Given the description of an element on the screen output the (x, y) to click on. 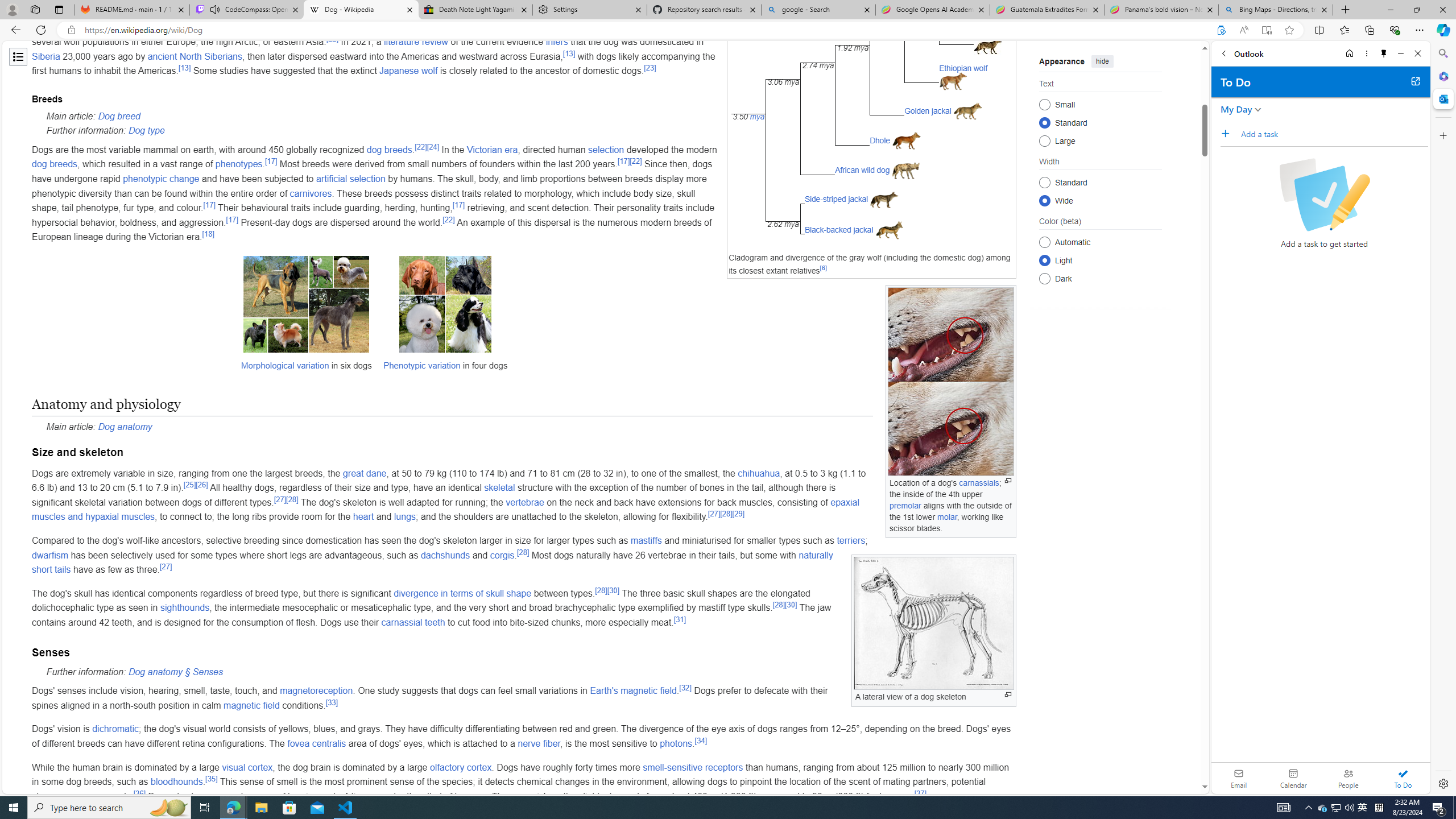
Support Wikipedia? (1220, 29)
Dhole (879, 139)
[24] (432, 146)
carnivores (310, 193)
dog breeds (55, 163)
great dane (364, 473)
[36] (138, 792)
naturally short tails (432, 562)
[37] (920, 792)
mya (756, 117)
dachshunds (445, 555)
